Given the description of an element on the screen output the (x, y) to click on. 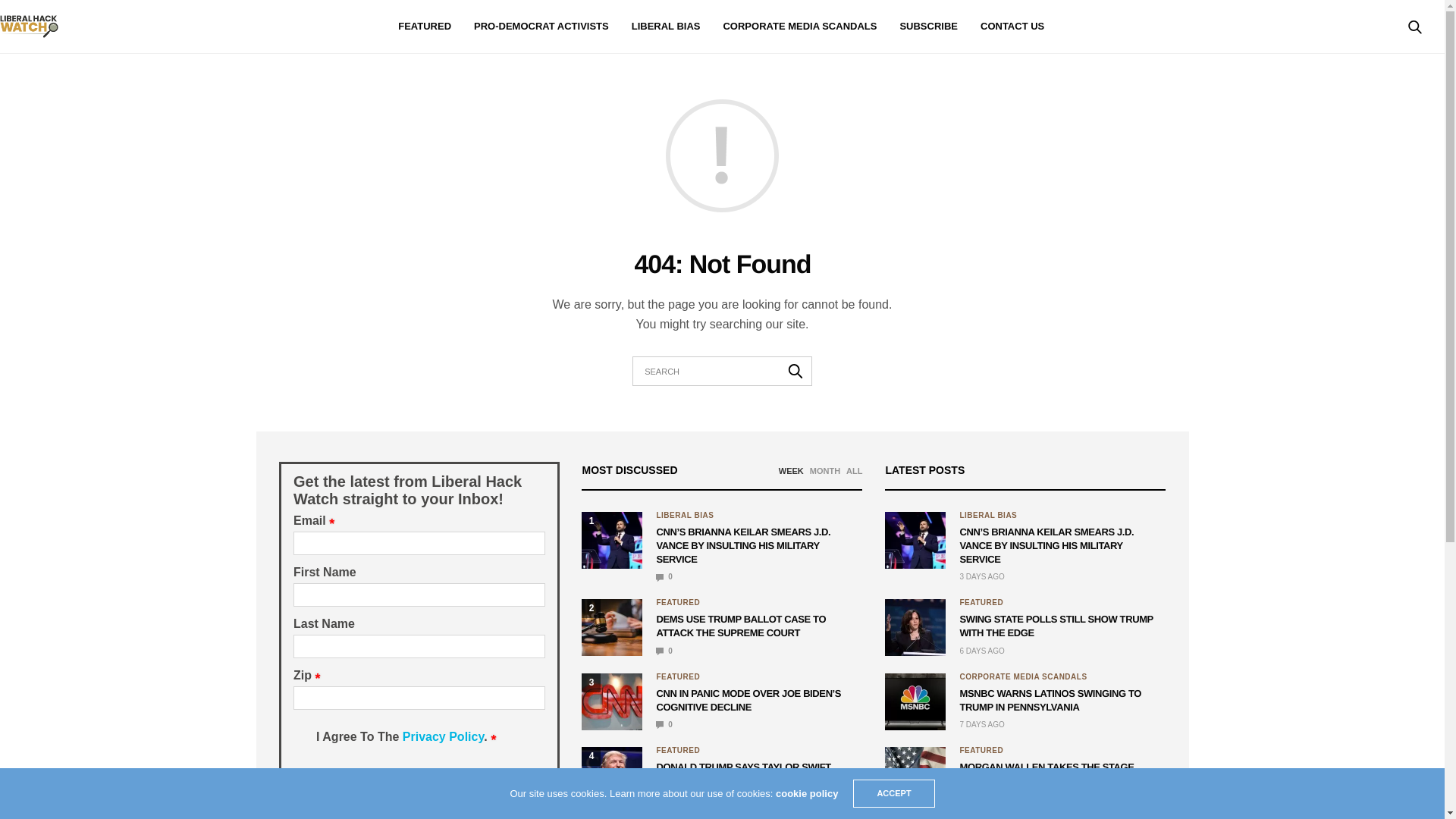
Featured (678, 750)
Search (795, 370)
FEATURED (424, 26)
LIBERAL BIAS (665, 26)
CONTACT US (1011, 26)
FEATURED (678, 602)
WEEK (790, 470)
Dems Use Trump Ballot Case to Attack the Supreme Court (740, 625)
